Given the description of an element on the screen output the (x, y) to click on. 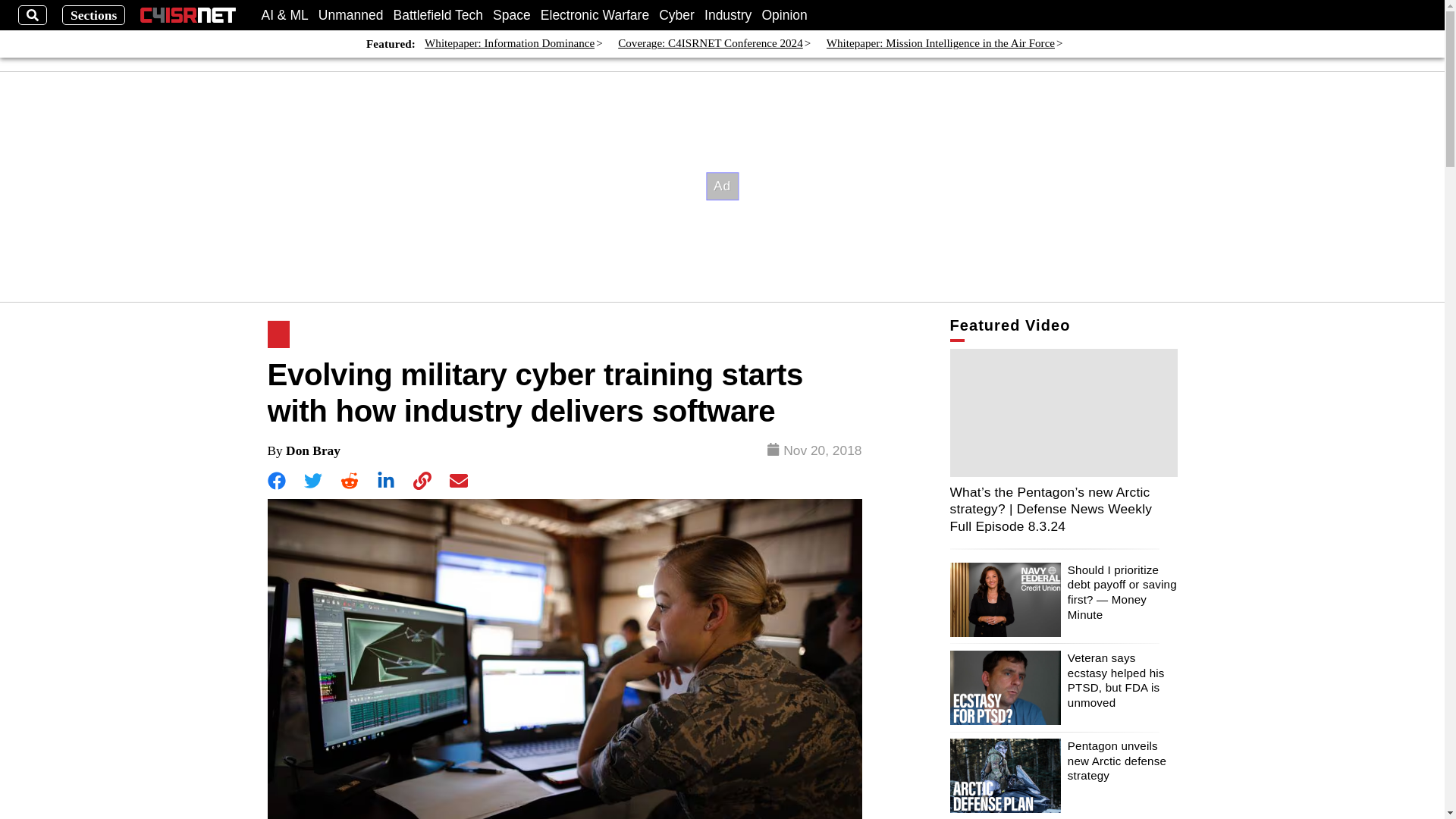
Sections (93, 14)
Whitepaper: Information Dominance (509, 43)
Coverage: C4ISRNET Conference 2024 (710, 43)
Industry (727, 14)
Electronic Warfare (594, 14)
Opinion (783, 14)
C4ISRNet Logo (187, 14)
Unmanned (351, 14)
Space (512, 14)
